Given the description of an element on the screen output the (x, y) to click on. 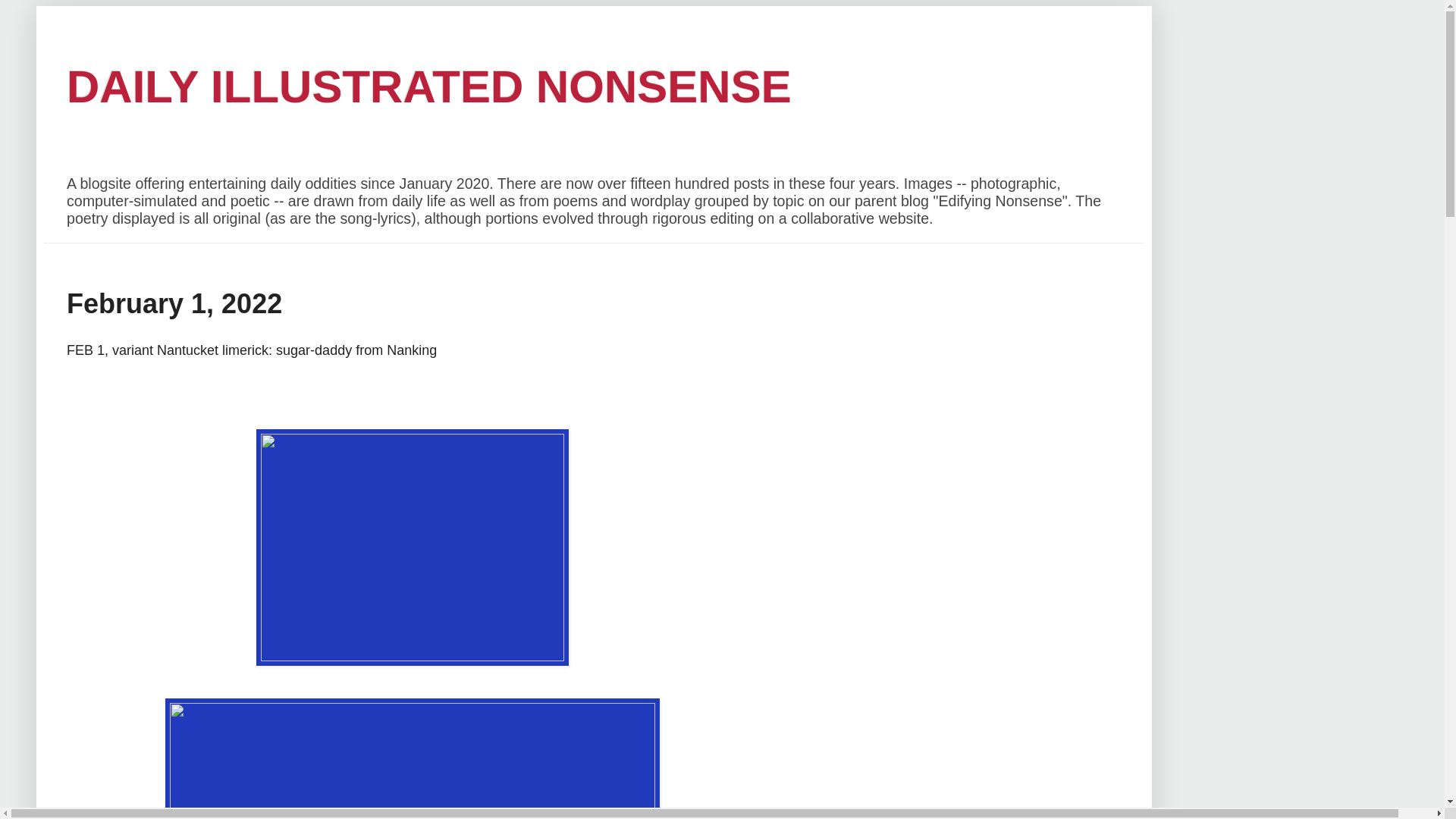
DAILY ILLUSTRATED NONSENSE (429, 86)
